Given the description of an element on the screen output the (x, y) to click on. 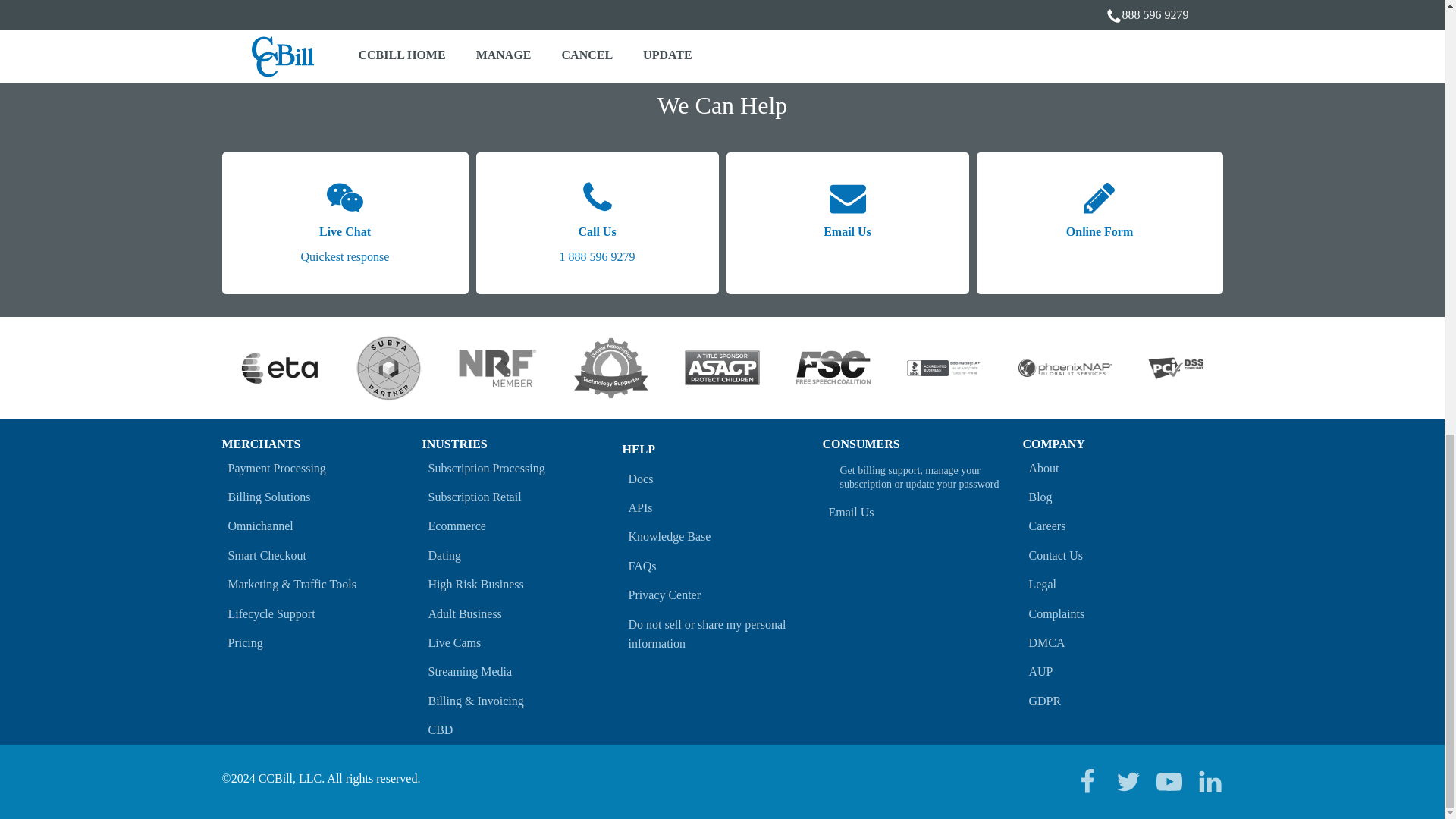
High Risk Business (521, 584)
Dating (521, 554)
Payment Processing (321, 467)
Adult Business (521, 613)
CCBill Pay (749, 22)
Billing Solutions (321, 497)
Smart Checkout (321, 554)
Lifecycle Support (321, 613)
Online Form (1099, 223)
MERCHANTS (260, 443)
